Given the description of an element on the screen output the (x, y) to click on. 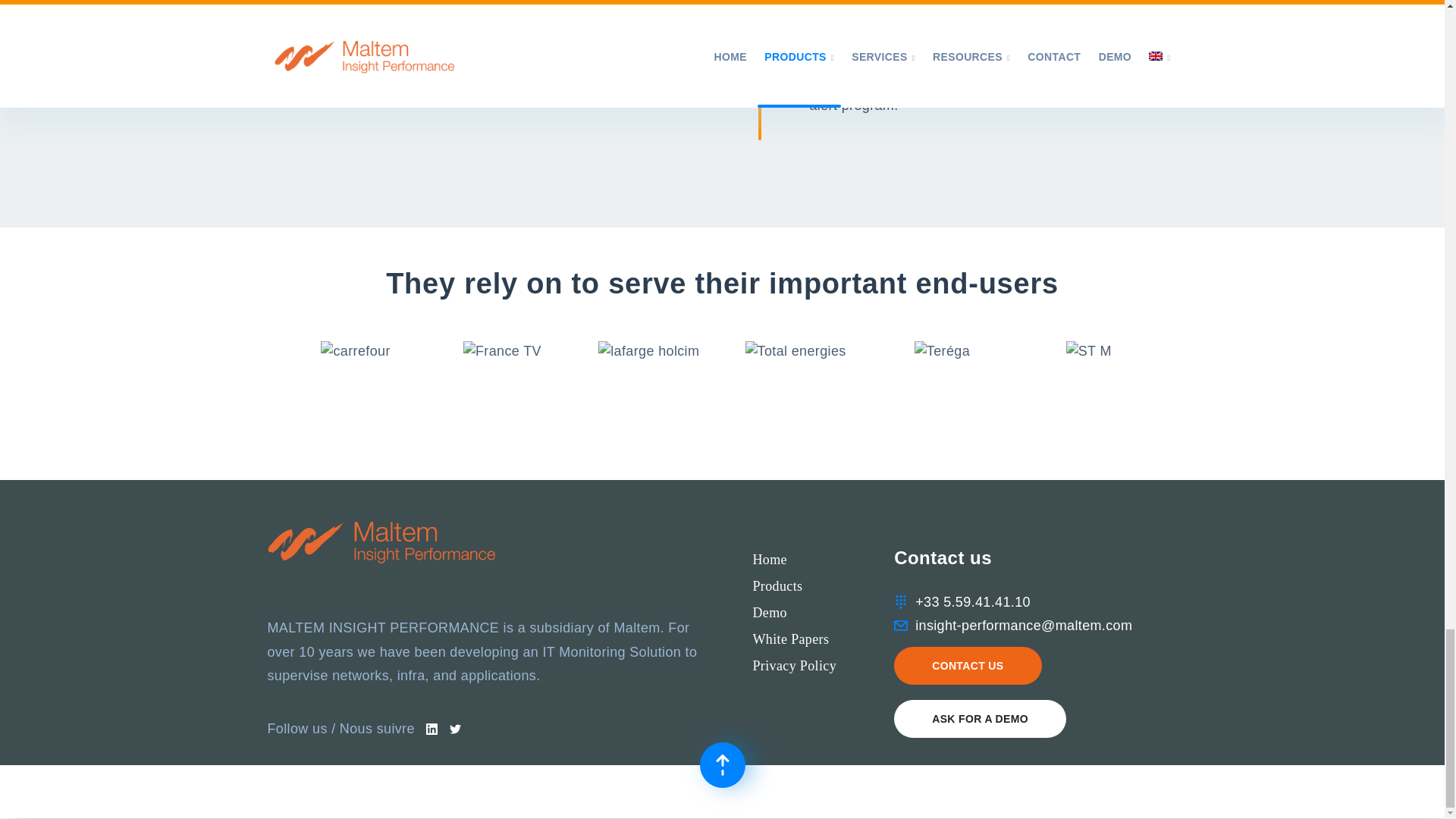
Demo (769, 612)
Products (777, 586)
White Papers (790, 639)
Home (769, 559)
